Given the description of an element on the screen output the (x, y) to click on. 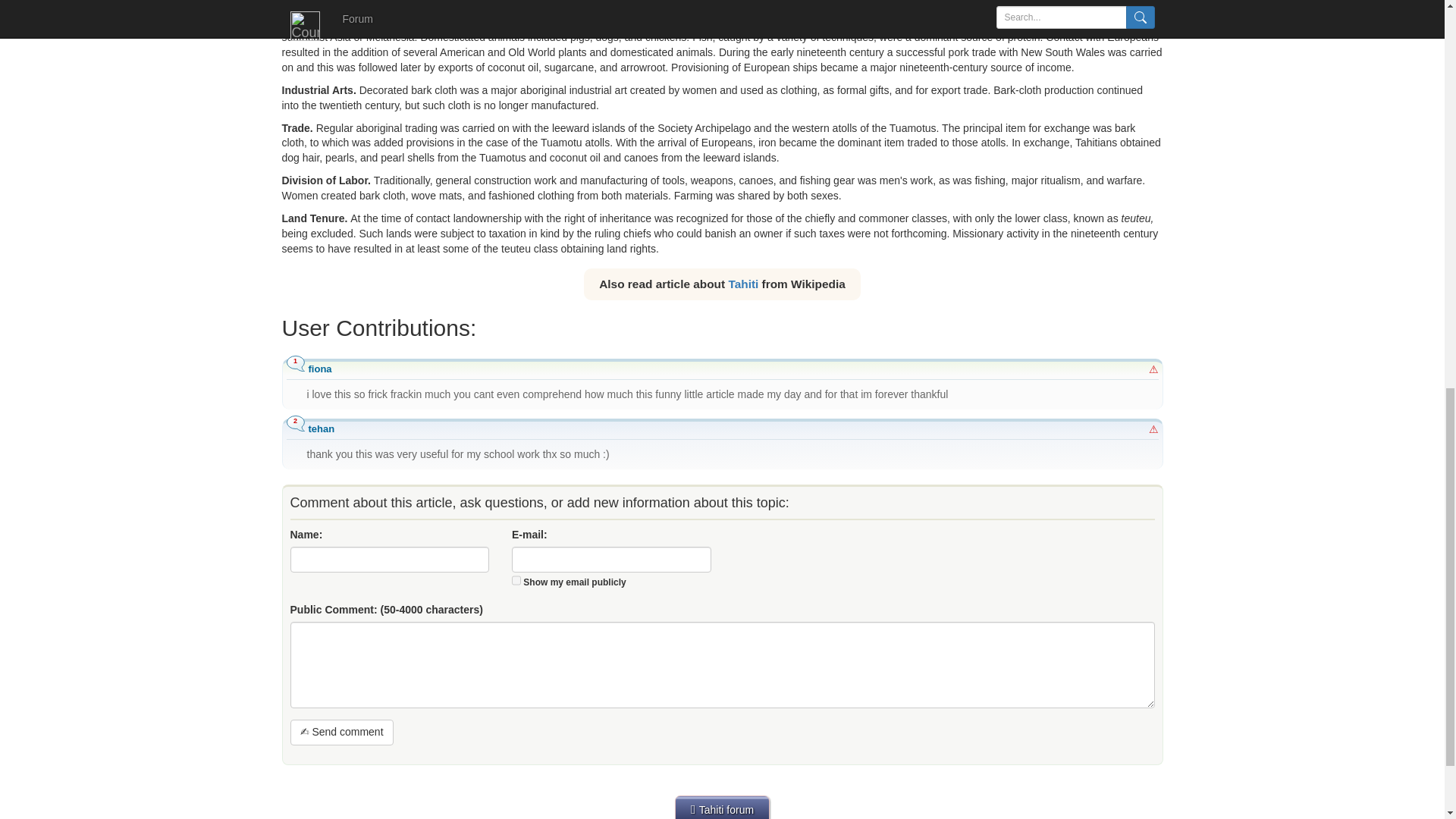
Tahiti forum (722, 807)
Report this comment as inappropriate (1152, 428)
Report this comment as inappropriate (1152, 369)
1 (516, 580)
Tahiti (743, 283)
